Given the description of an element on the screen output the (x, y) to click on. 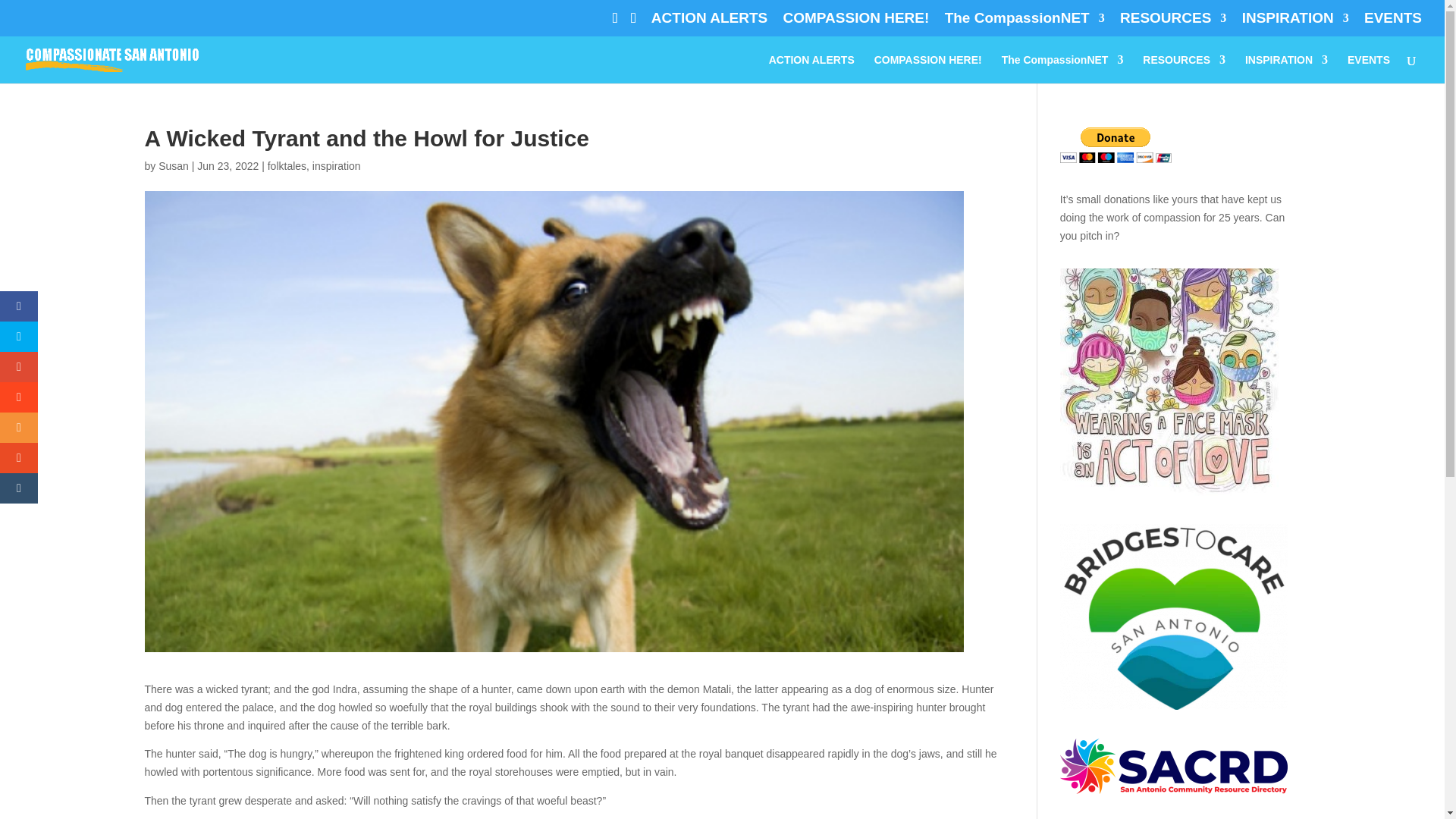
PayPal - The safer, easier way to pay online! (1115, 144)
EVENTS (1393, 23)
The CompassionNET (1024, 23)
INSPIRATION (1295, 23)
COMPASSION HERE! (856, 23)
ACTION ALERTS (708, 23)
Posts by Susan (173, 164)
RESOURCES (1172, 23)
